Given the description of an element on the screen output the (x, y) to click on. 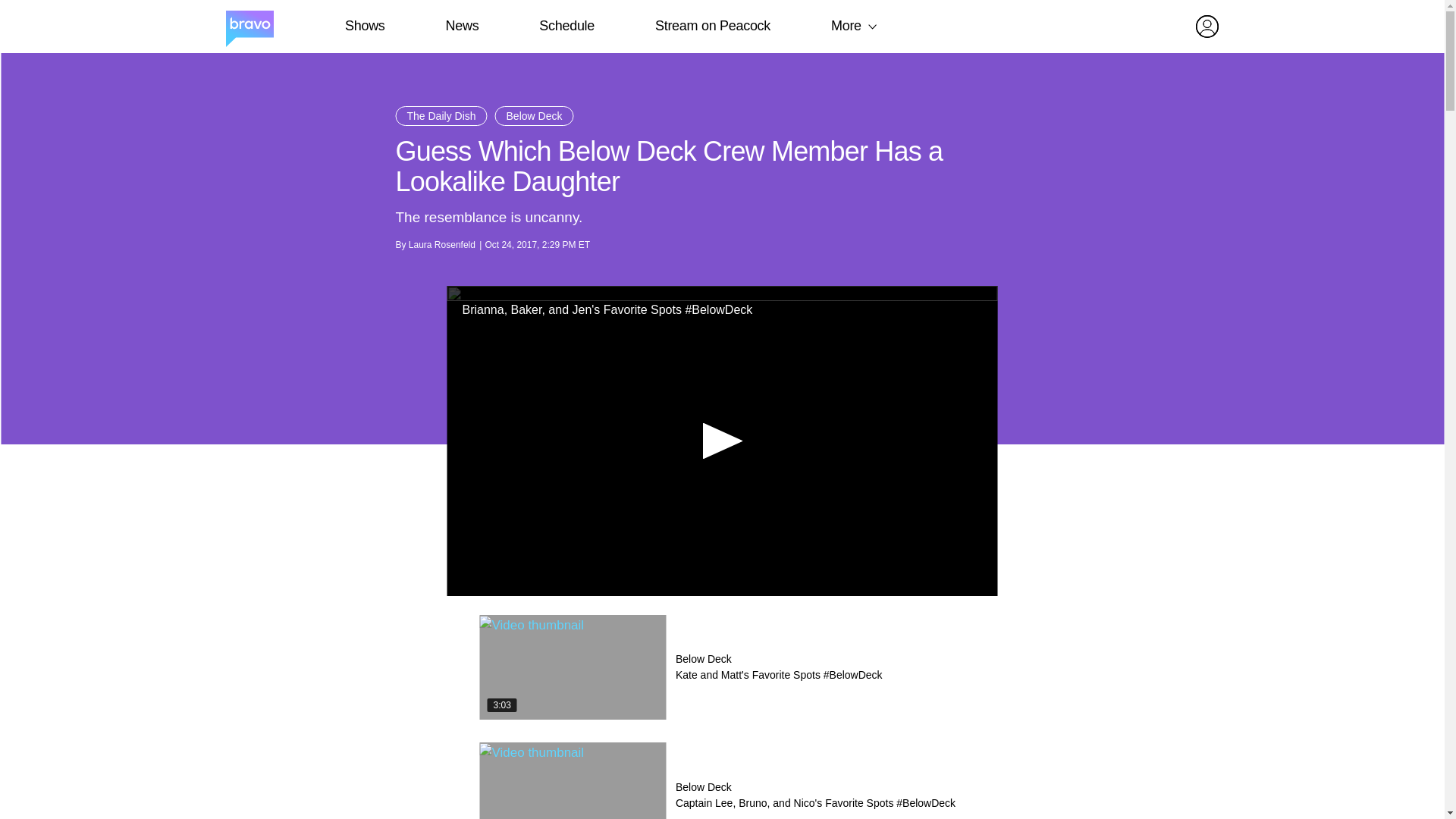
The Daily Dish (441, 116)
Below Deck (534, 116)
Home (249, 26)
Stream on Peacock (712, 26)
Shows (363, 26)
Schedule (566, 26)
More (846, 26)
News (462, 26)
Laura Rosenfeld (442, 244)
